Given the description of an element on the screen output the (x, y) to click on. 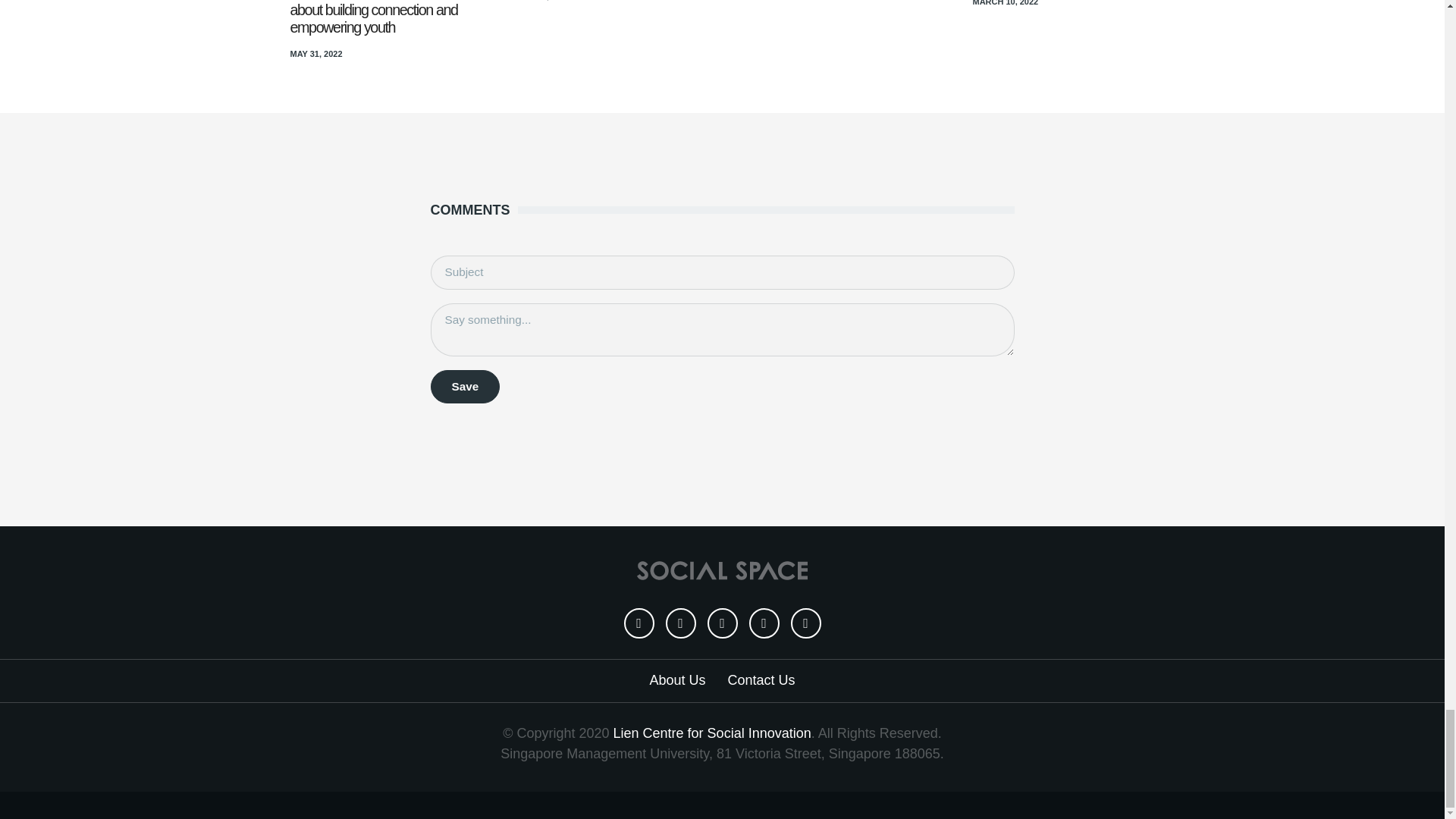
Save (465, 387)
Home (722, 570)
Lien Centre for Social Innovation (711, 733)
